Given the description of an element on the screen output the (x, y) to click on. 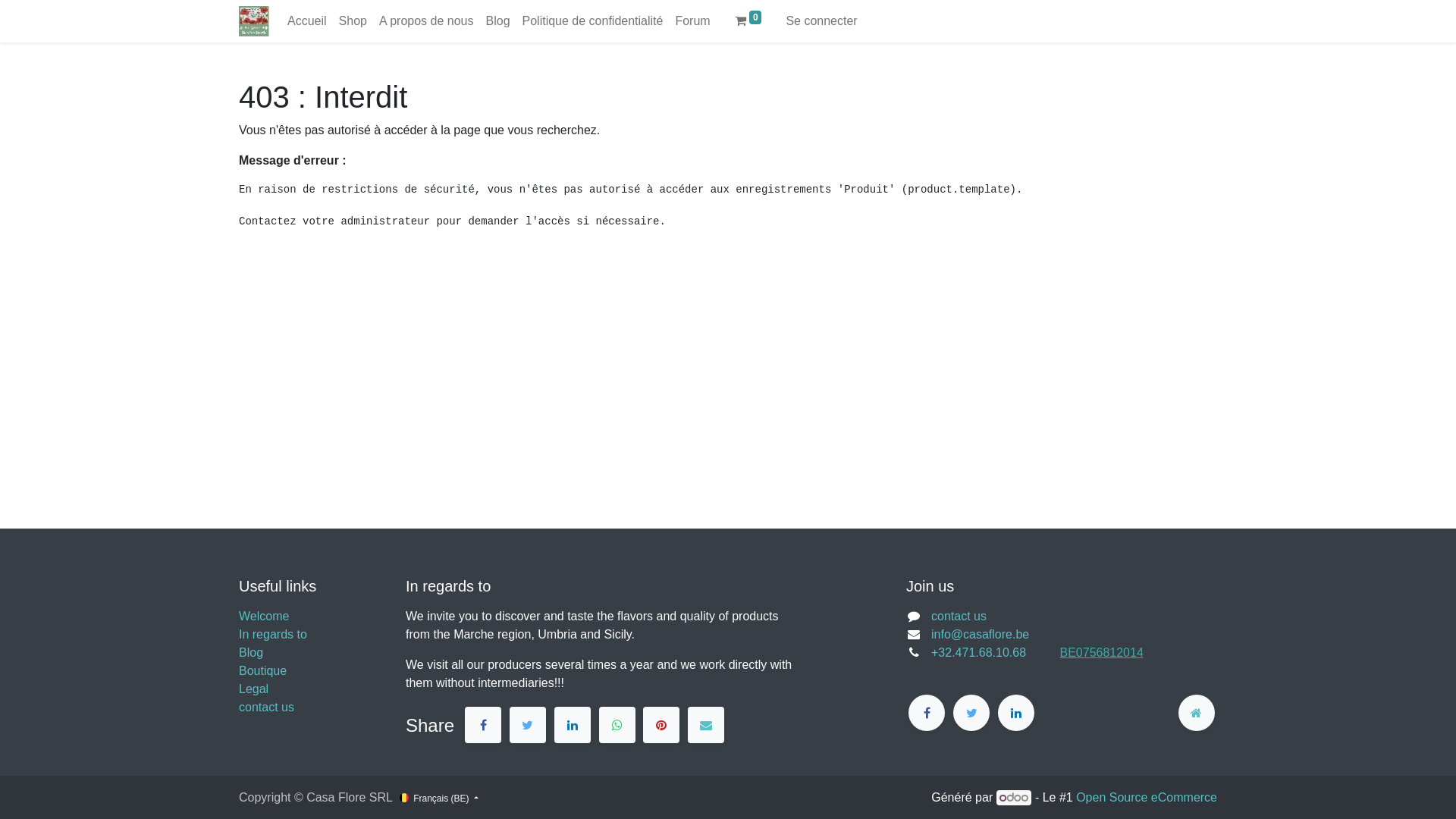
In regards to Element type: text (272, 633)
info@casaflore.be Element type: text (980, 633)
Open Source eCommerce Element type: text (1146, 796)
+32.471.68.10.68          Element type: text (993, 652)
Shop Element type: text (352, 21)
contact us Element type: text (958, 615)
contact us Element type: text (266, 706)
Casa Flore Element type: hover (253, 21)
0 Element type: text (748, 21)
Welcome Element type: text (263, 615)
Legal Element type: text (253, 688)
Blog Element type: text (497, 21)
Forum Element type: text (691, 21)
Accueil Element type: text (306, 21)
A propos de nous Element type: text (426, 21)
BE0756812014 Element type: text (1100, 652)
Blog Element type: text (250, 652)
Boutique Element type: text (262, 670)
Se connecter Element type: text (820, 21)
